Given the description of an element on the screen output the (x, y) to click on. 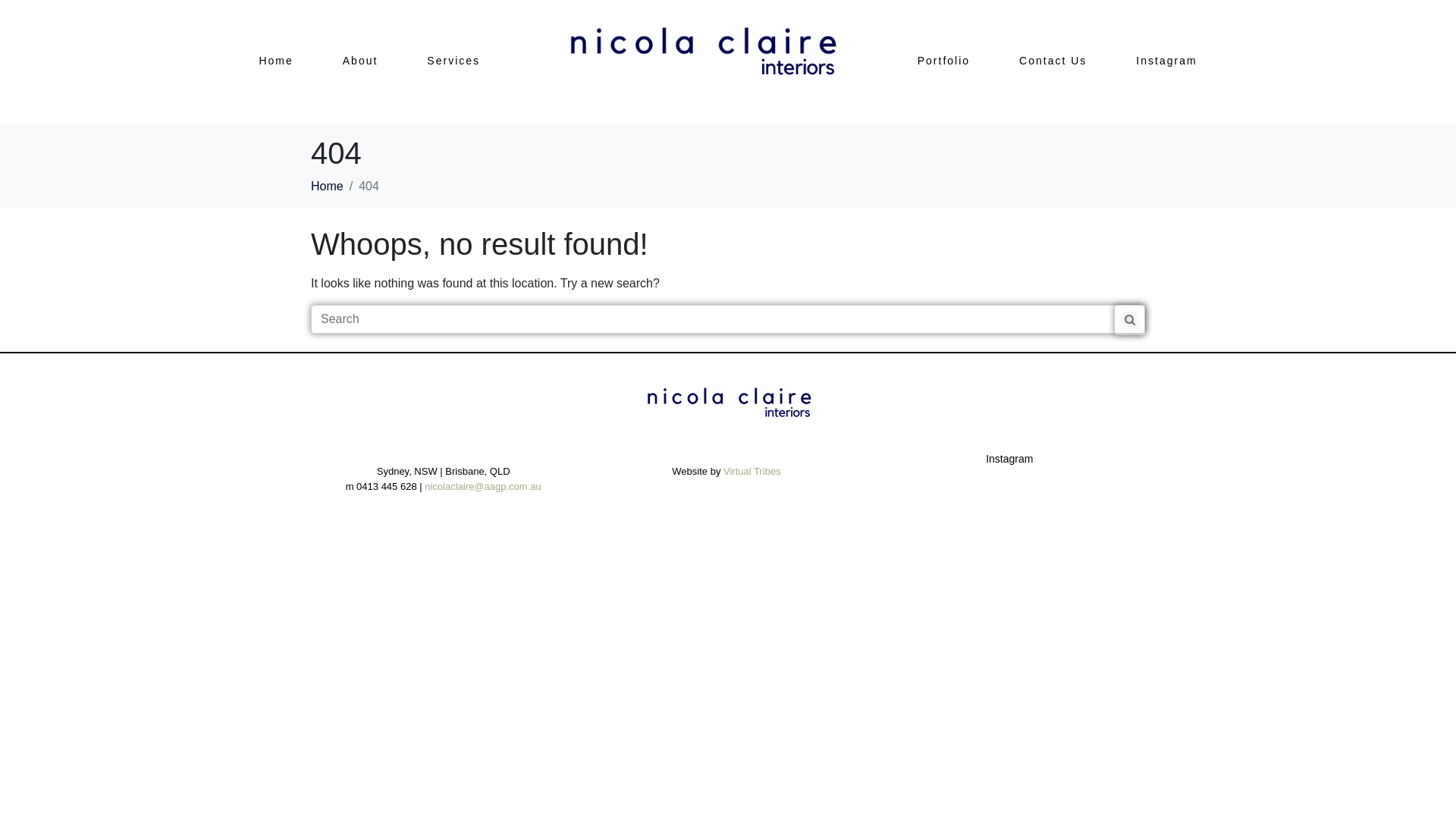
nicolaclaire@aagp.com.au Element type: text (482, 486)
Instagram Element type: text (1008, 458)
Home Element type: text (326, 185)
Home Element type: text (275, 61)
Contact Us Element type: text (1052, 61)
About Element type: text (360, 61)
Portfolio Element type: text (943, 61)
Virtual Tribes Element type: text (752, 470)
Instagram Element type: text (1165, 61)
Services Element type: text (453, 61)
